Given the description of an element on the screen output the (x, y) to click on. 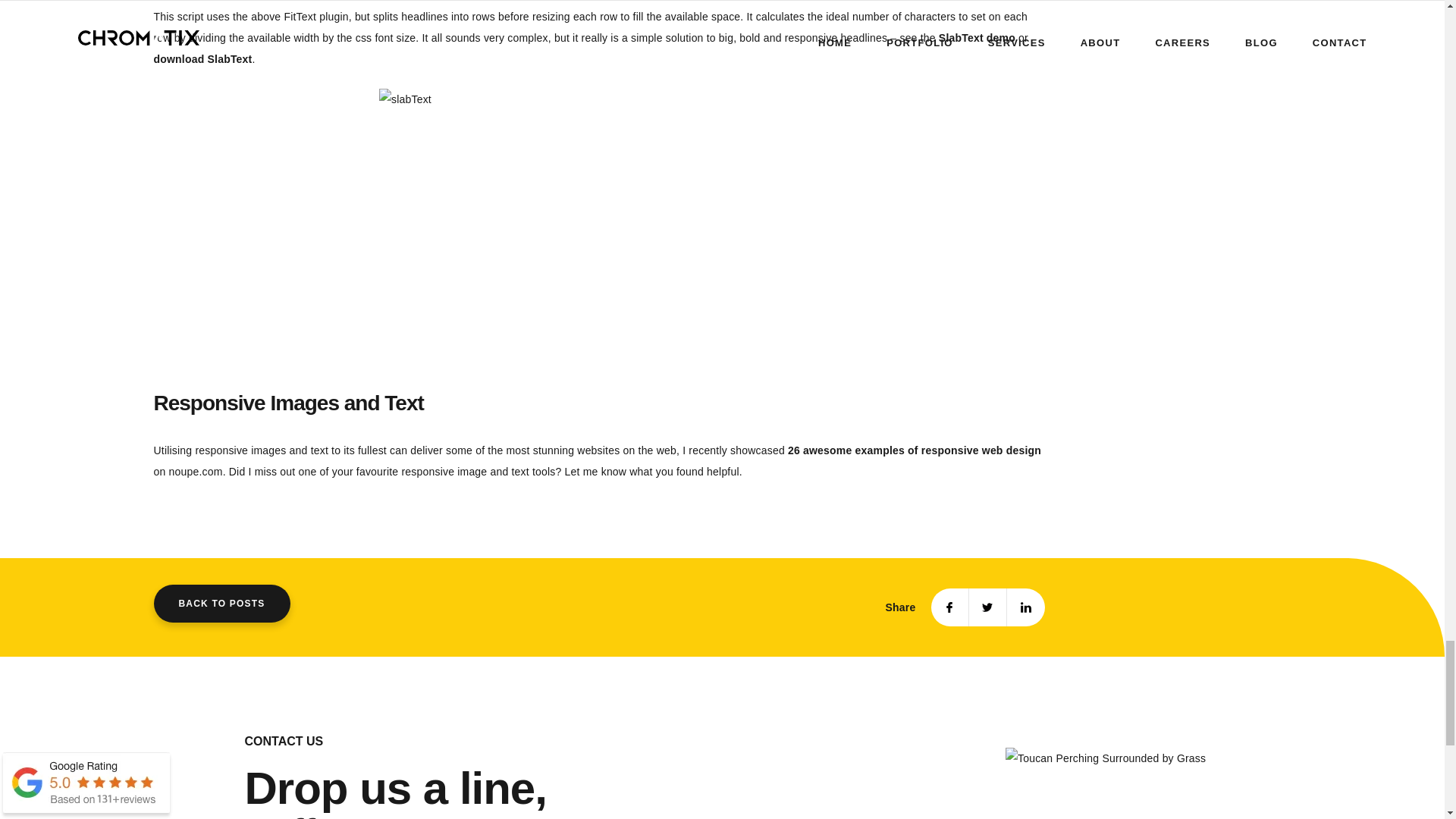
download SlabText (201, 59)
26 awesome examples of responsive web design (914, 450)
SlabText demo (976, 37)
